Given the description of an element on the screen output the (x, y) to click on. 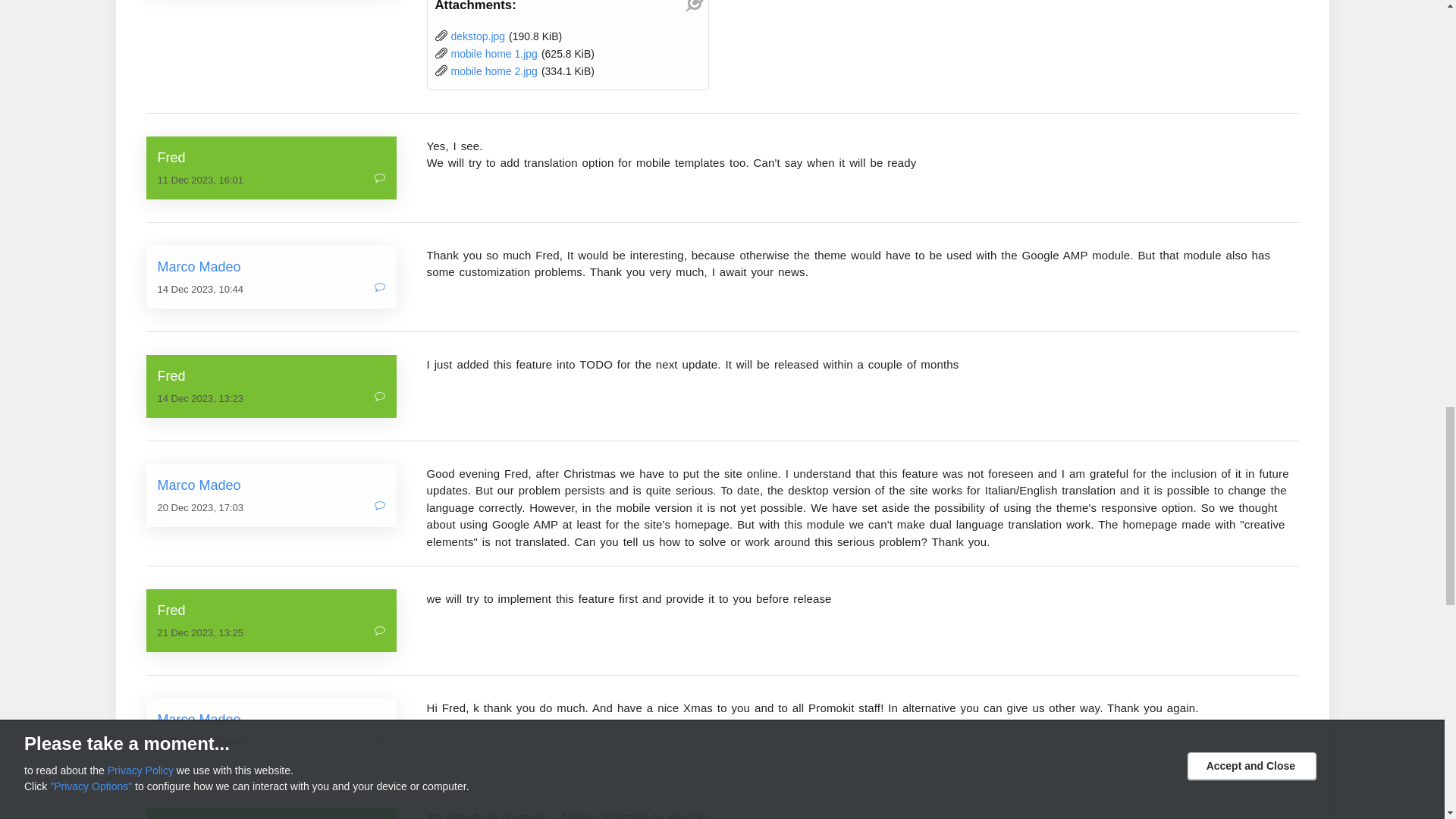
dekstop.jpg (477, 36)
Fred (271, 158)
mobile home 2.jpg (493, 70)
mobile home 1.jpg (493, 53)
Marco Madeo (271, 485)
Fred (271, 376)
Marco Madeo (271, 267)
